Given the description of an element on the screen output the (x, y) to click on. 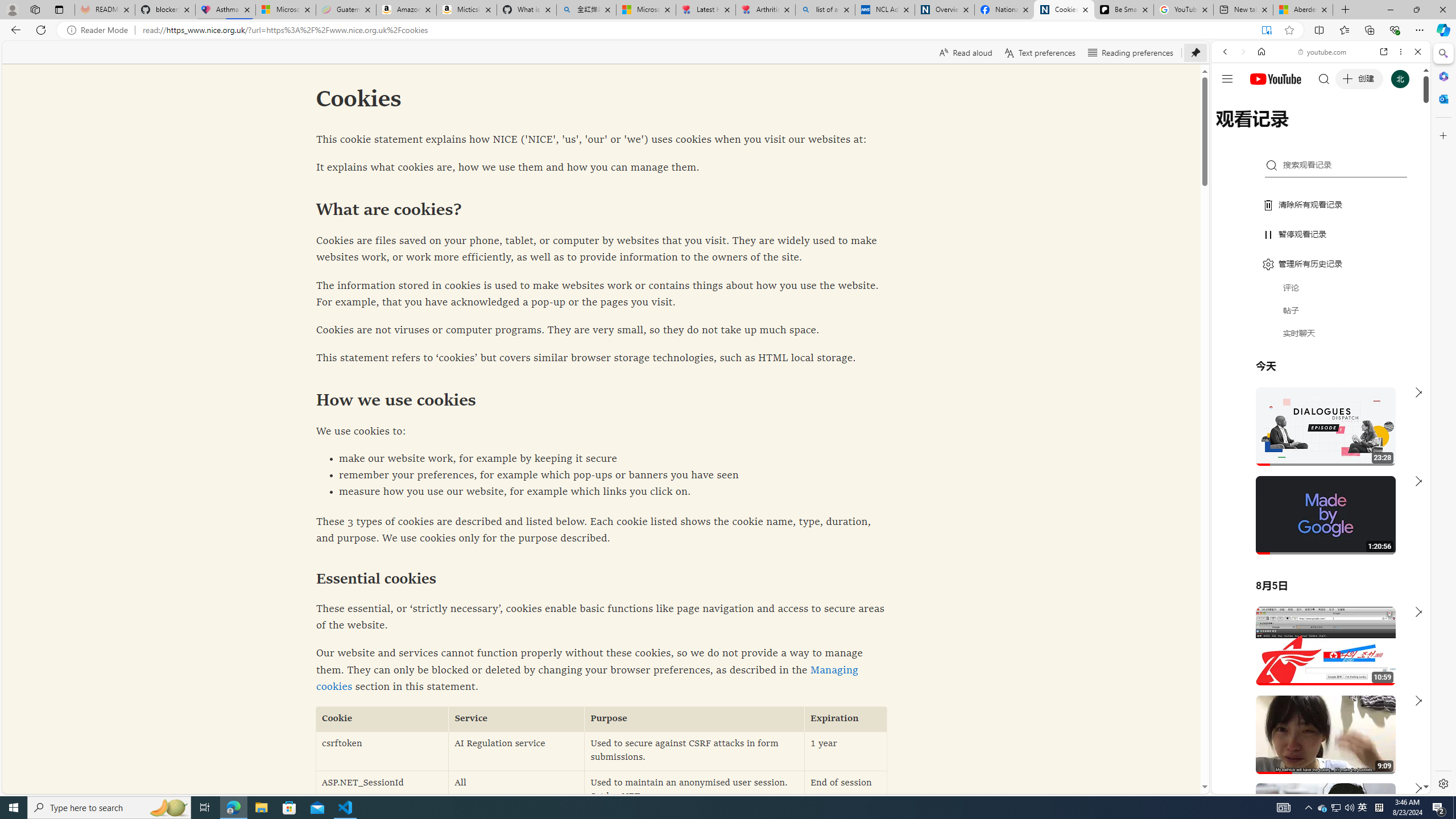
you (1315, 755)
ASP.NET_SessionId (381, 790)
